Given the description of an element on the screen output the (x, y) to click on. 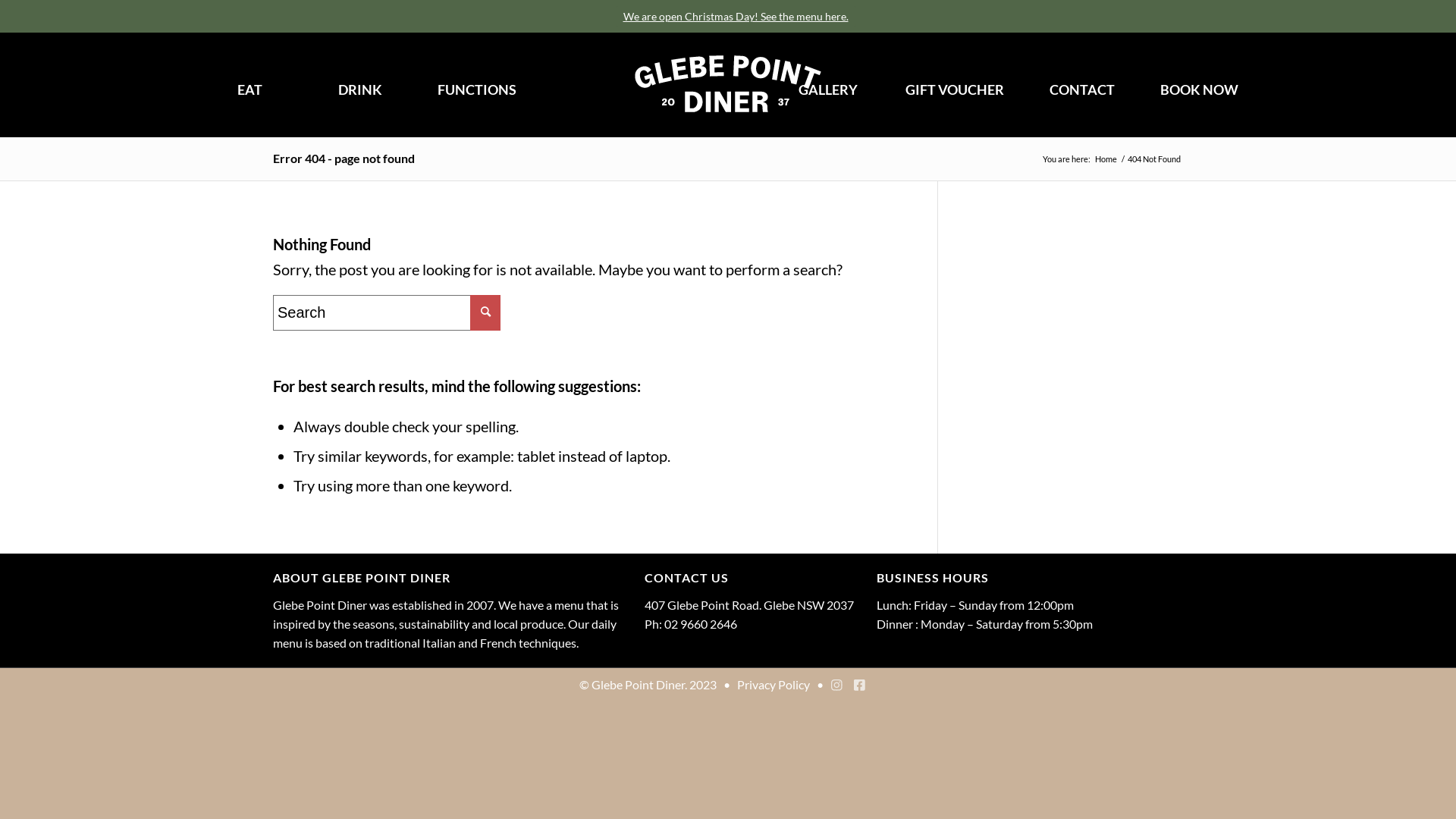
FUNCTIONS Element type: text (476, 89)
DRINK Element type: text (359, 89)
GPD-Glebe-Point-Diner-Logo (1) Element type: hover (727, 83)
GIFT VOUCHER Element type: text (954, 89)
GALLERY Element type: text (827, 89)
BOOK NOW Element type: text (1199, 89)
EAT Element type: text (249, 89)
CONTACT Element type: text (1081, 89)
Home Element type: text (1105, 158)
We are open Christmas Day! See the menu here. Element type: text (735, 16)
  Privacy Policy Element type: text (769, 684)
02 9660 2646 Element type: text (700, 623)
